Given the description of an element on the screen output the (x, y) to click on. 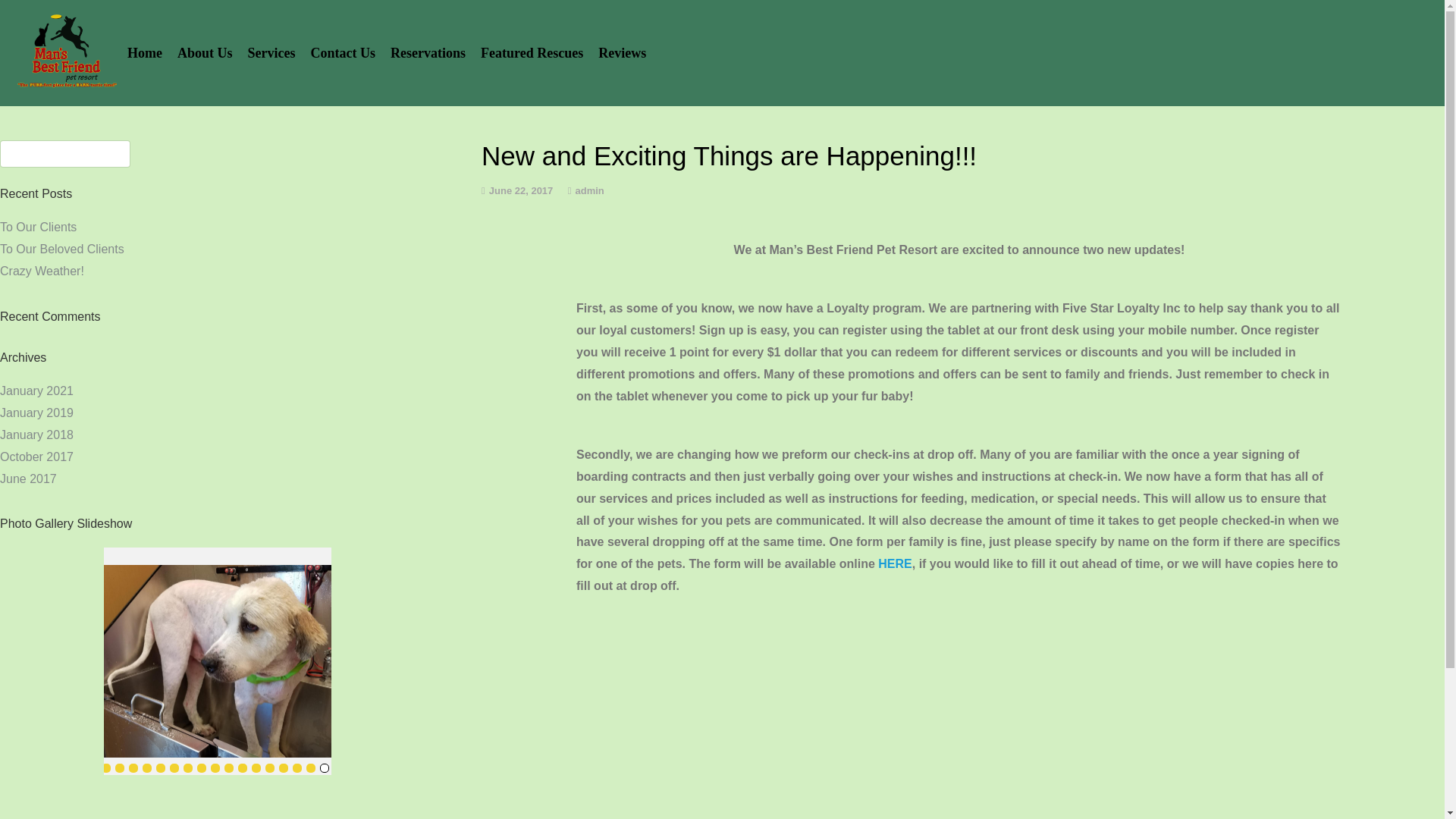
Featured Rescues (532, 53)
January 2018 (37, 434)
Search for: (65, 153)
January 2019 (37, 412)
HERE (894, 563)
To Our Clients (38, 226)
Home (144, 53)
Services (271, 53)
To Our Beloved Clients (61, 248)
June 2017 (28, 478)
Search (32, 15)
About Us (205, 53)
October 2017 (37, 456)
Crazy Weather! (42, 270)
Reservations (427, 53)
